Given the description of an element on the screen output the (x, y) to click on. 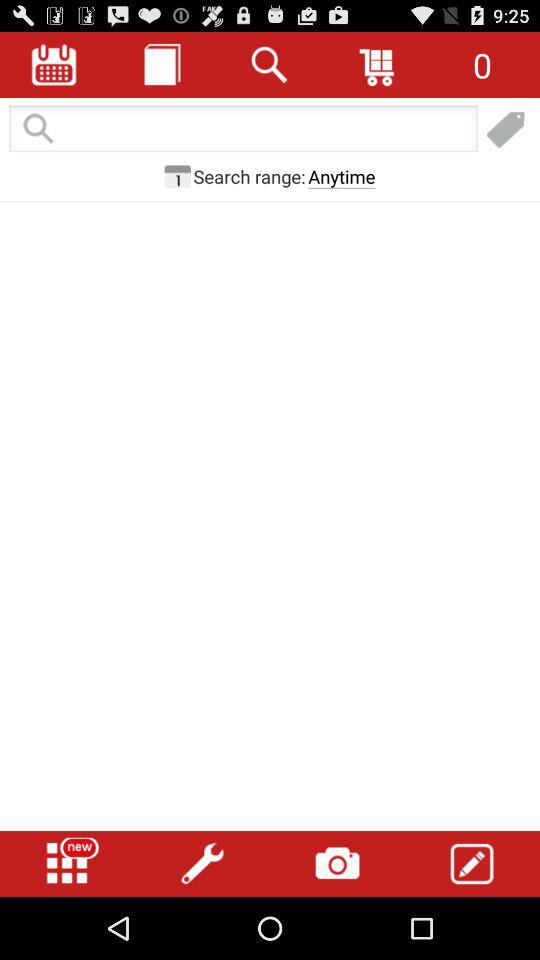
scroll until the search range: (249, 175)
